Given the description of an element on the screen output the (x, y) to click on. 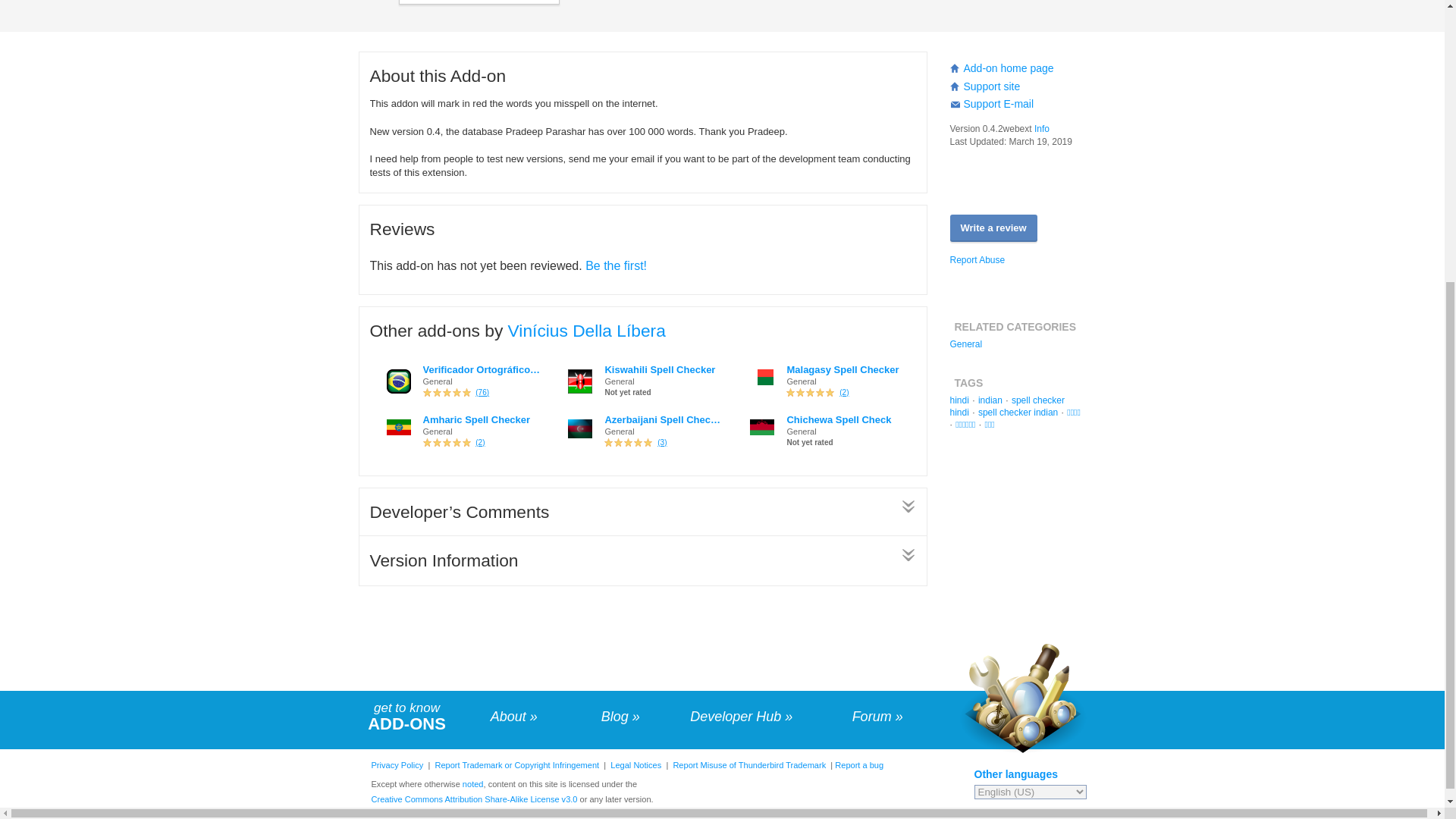
Rated 5 out of 5 stars (446, 442)
Rated 5 out of 5 stars (810, 392)
Rated 5 out of 5 stars (628, 442)
Rated 5 out of 5 stars (446, 392)
Info (1041, 128)
